Given the description of an element on the screen output the (x, y) to click on. 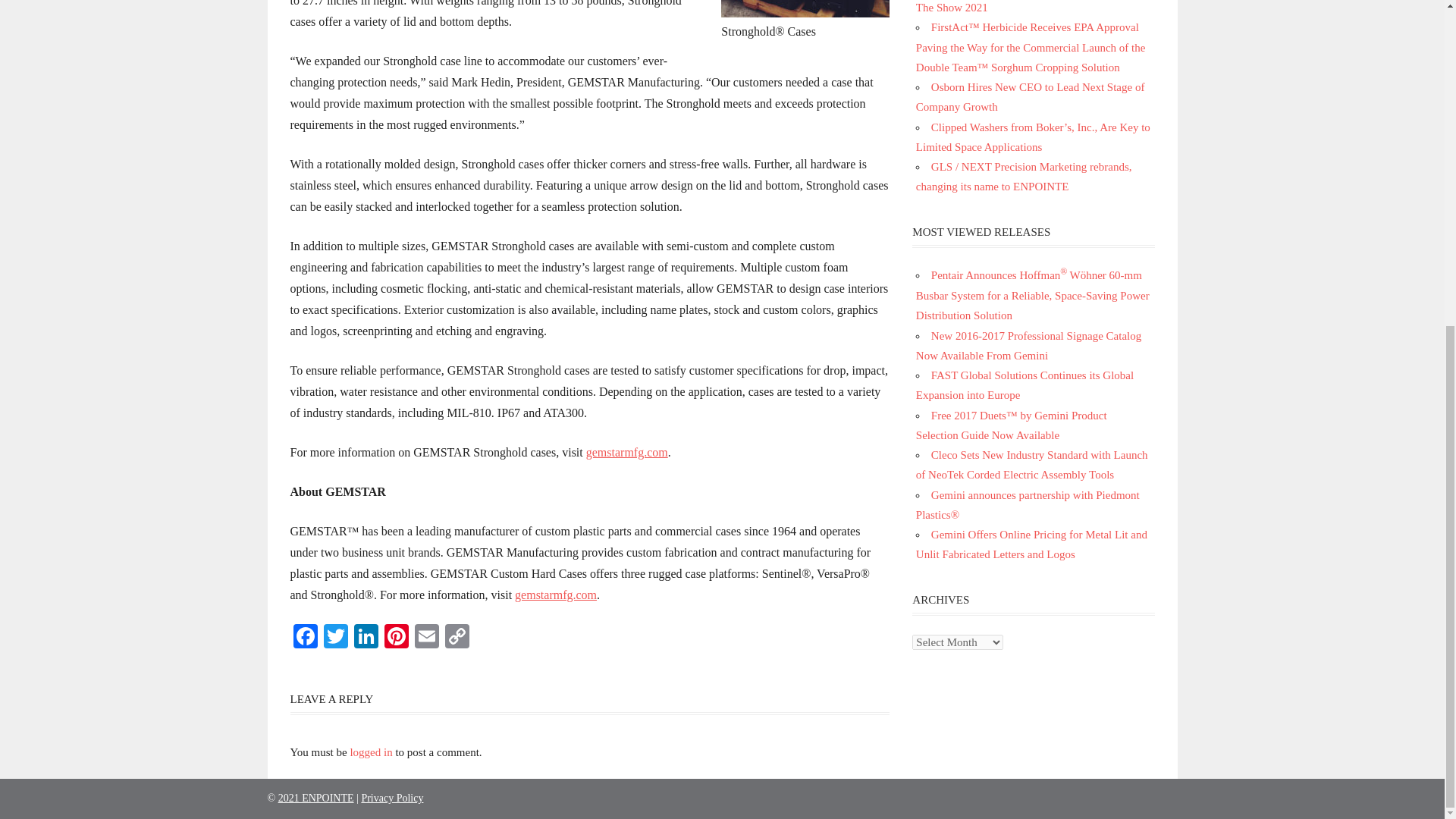
Twitter (335, 637)
Facebook (304, 637)
Email (425, 637)
LinkedIn (365, 637)
Pinterest (395, 637)
Copy Link (456, 637)
